Given the description of an element on the screen output the (x, y) to click on. 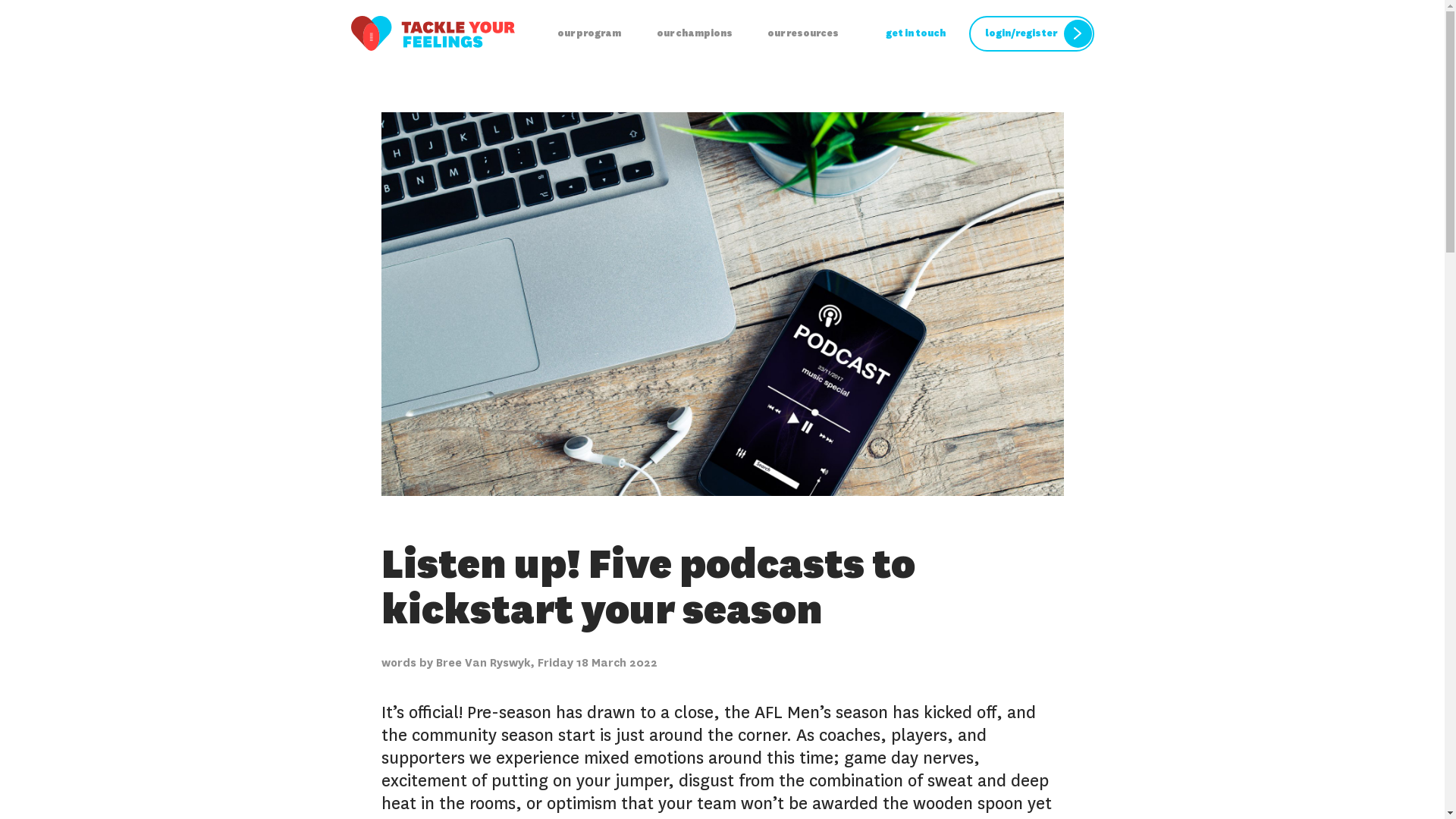
our champions Element type: text (694, 33)
get in touch Element type: text (915, 33)
login/register Element type: text (1031, 32)
our resources Element type: text (802, 33)
our program Element type: text (588, 33)
